Given the description of an element on the screen output the (x, y) to click on. 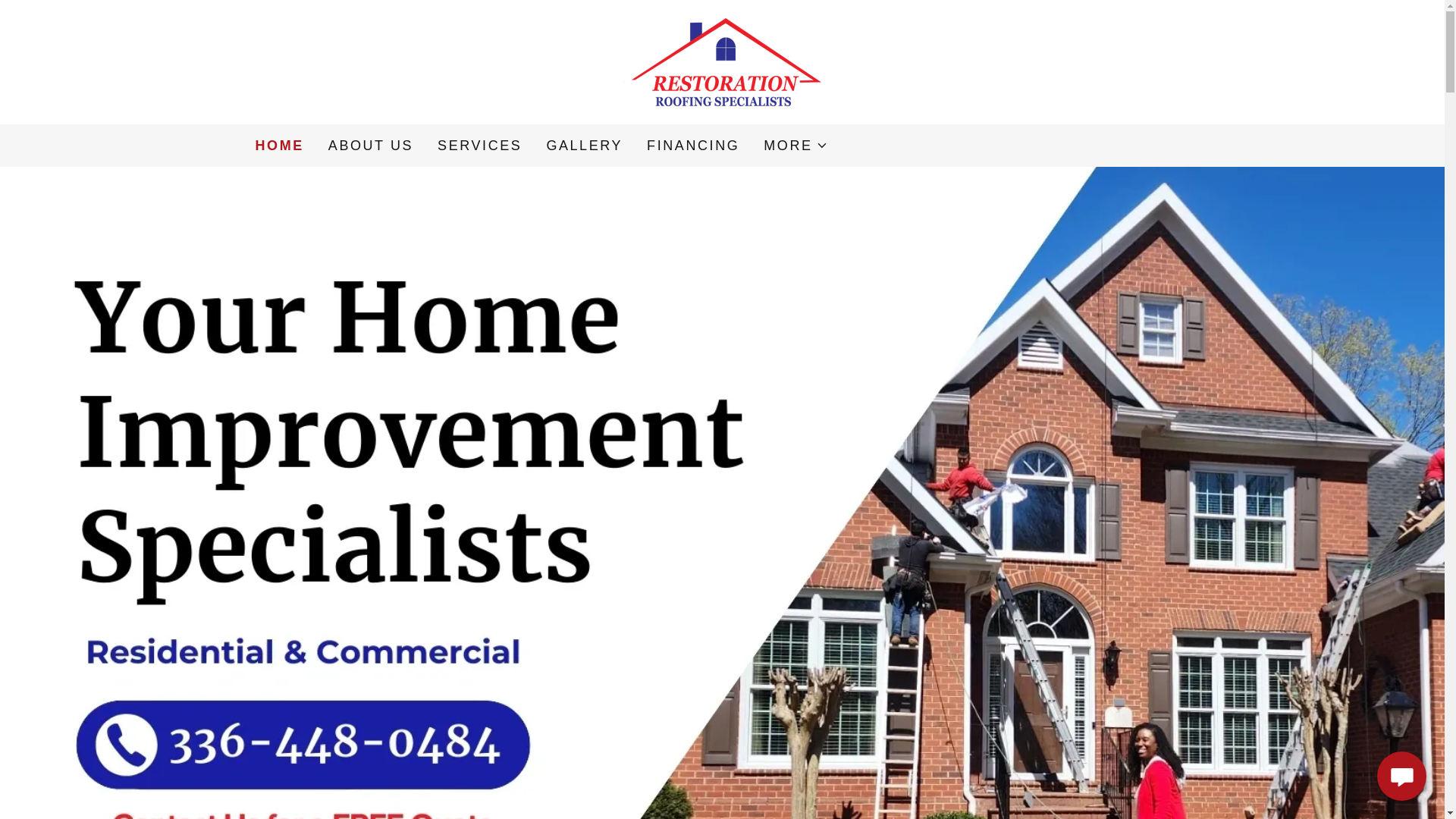
GALLERY (584, 144)
SERVICES (478, 144)
HOME (278, 145)
FINANCING (693, 144)
MORE (794, 145)
ABOUT US (370, 144)
Restoration Roofing Specialists (722, 60)
